Given the description of an element on the screen output the (x, y) to click on. 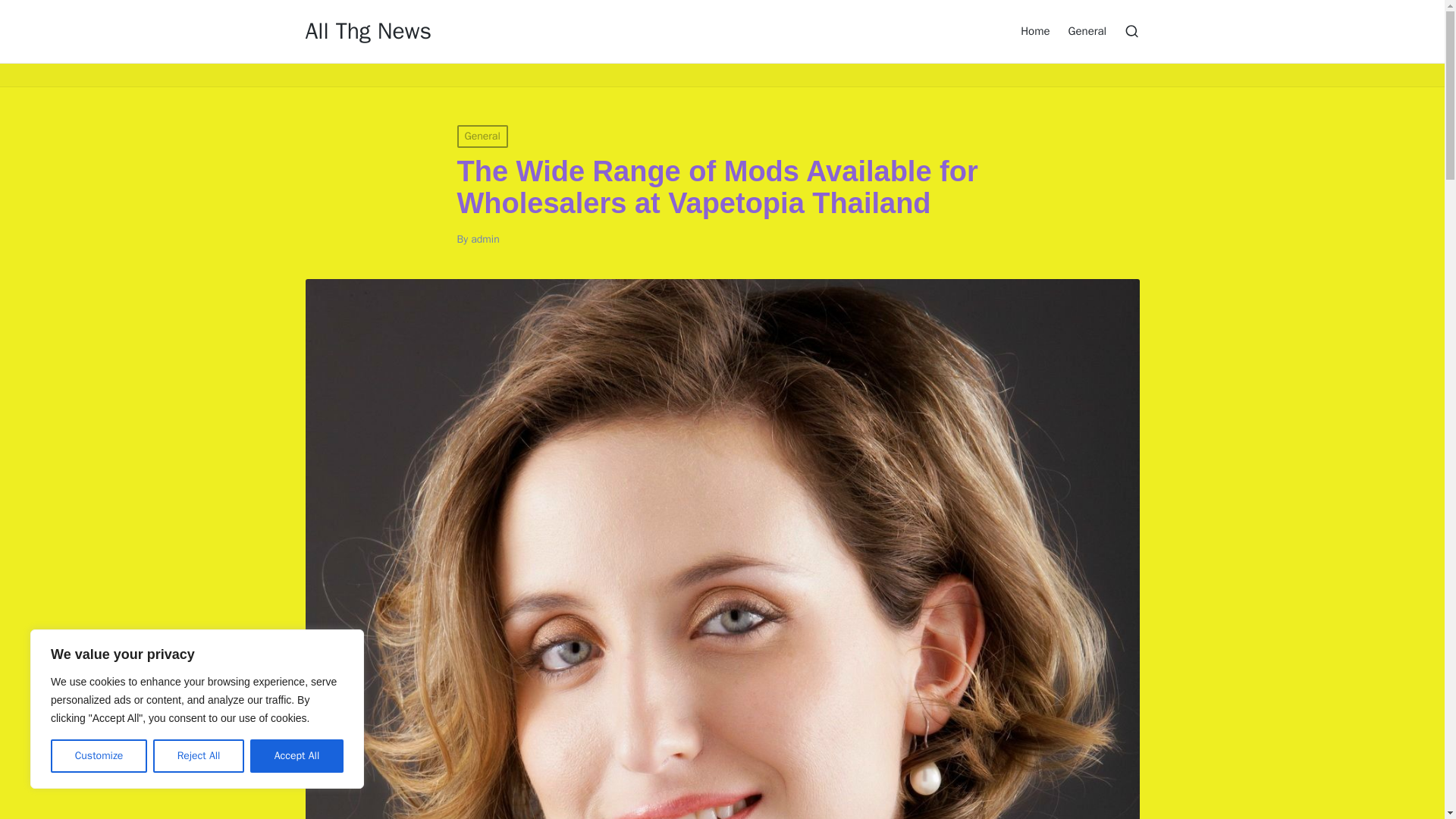
View all posts by  (484, 238)
Home (1034, 30)
Customize (98, 756)
General (1087, 30)
admin (484, 238)
General (481, 136)
All Thg News (367, 31)
Accept All (296, 756)
Reject All (198, 756)
